Given the description of an element on the screen output the (x, y) to click on. 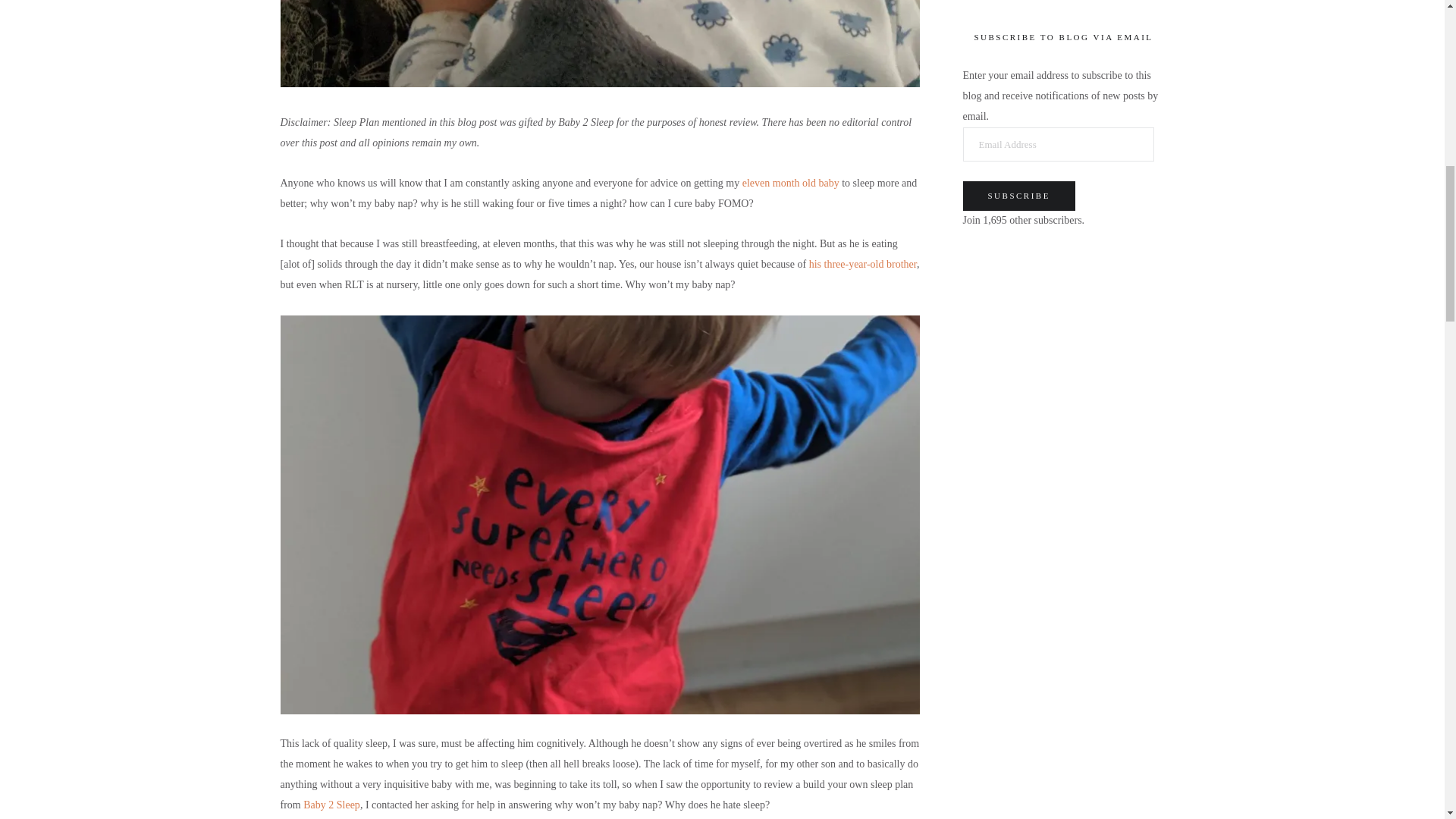
eleven month old baby (791, 183)
Baby 2 Sleep (330, 804)
his three-year-old brother (861, 264)
